Given the description of an element on the screen output the (x, y) to click on. 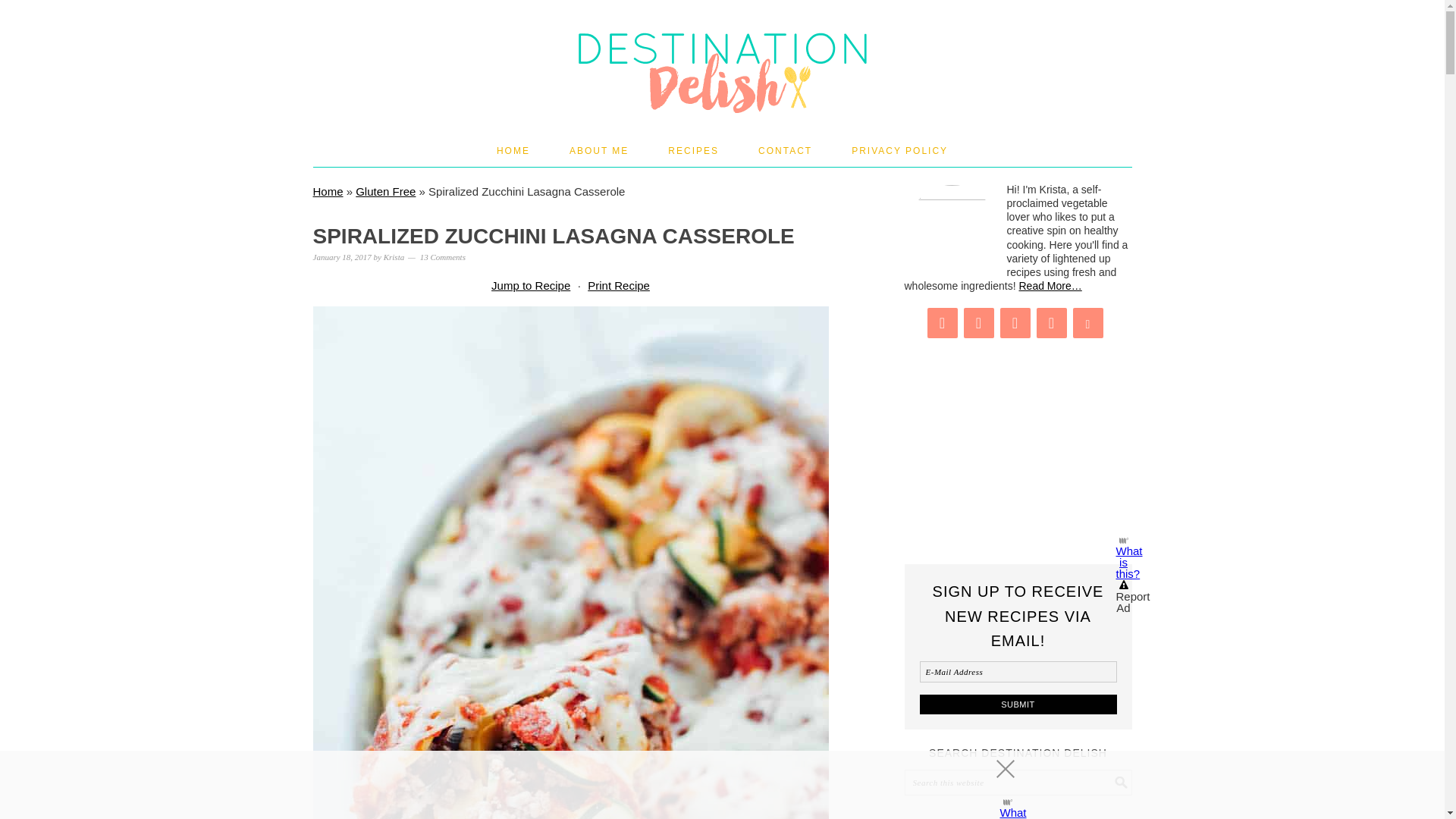
13 Comments (442, 256)
DESTINATION DELISH (722, 60)
Instagram (977, 322)
3rd party ad content (1017, 814)
Krista (394, 256)
Twitter (1050, 322)
Home (327, 191)
Jump to Recipe (531, 285)
Facebook (1013, 322)
3rd party ad content (1017, 438)
RECIPES (693, 151)
Print Recipe (618, 285)
Jump to Recipe (531, 285)
